Given the description of an element on the screen output the (x, y) to click on. 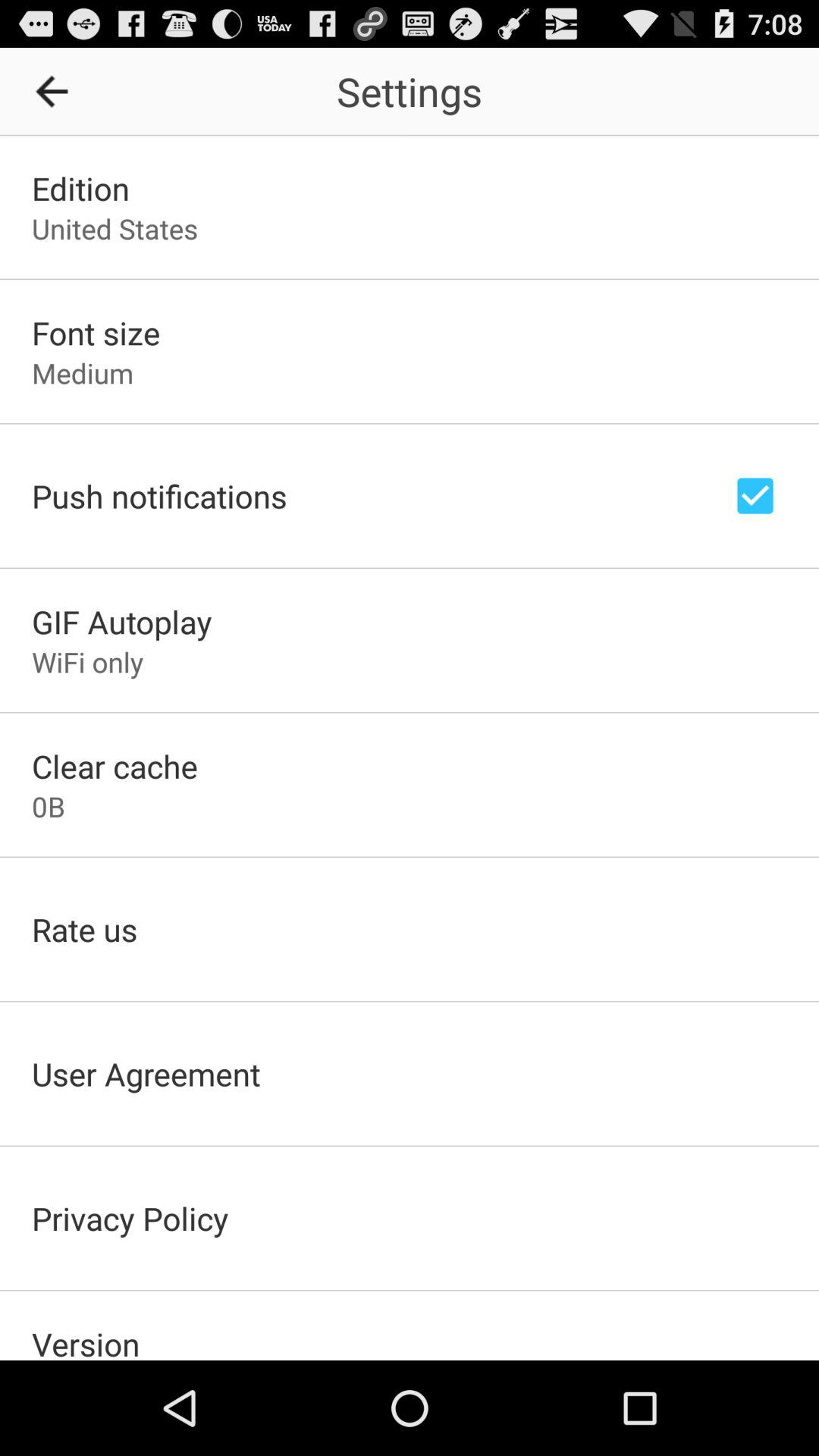
toggle push notifications (755, 495)
